Given the description of an element on the screen output the (x, y) to click on. 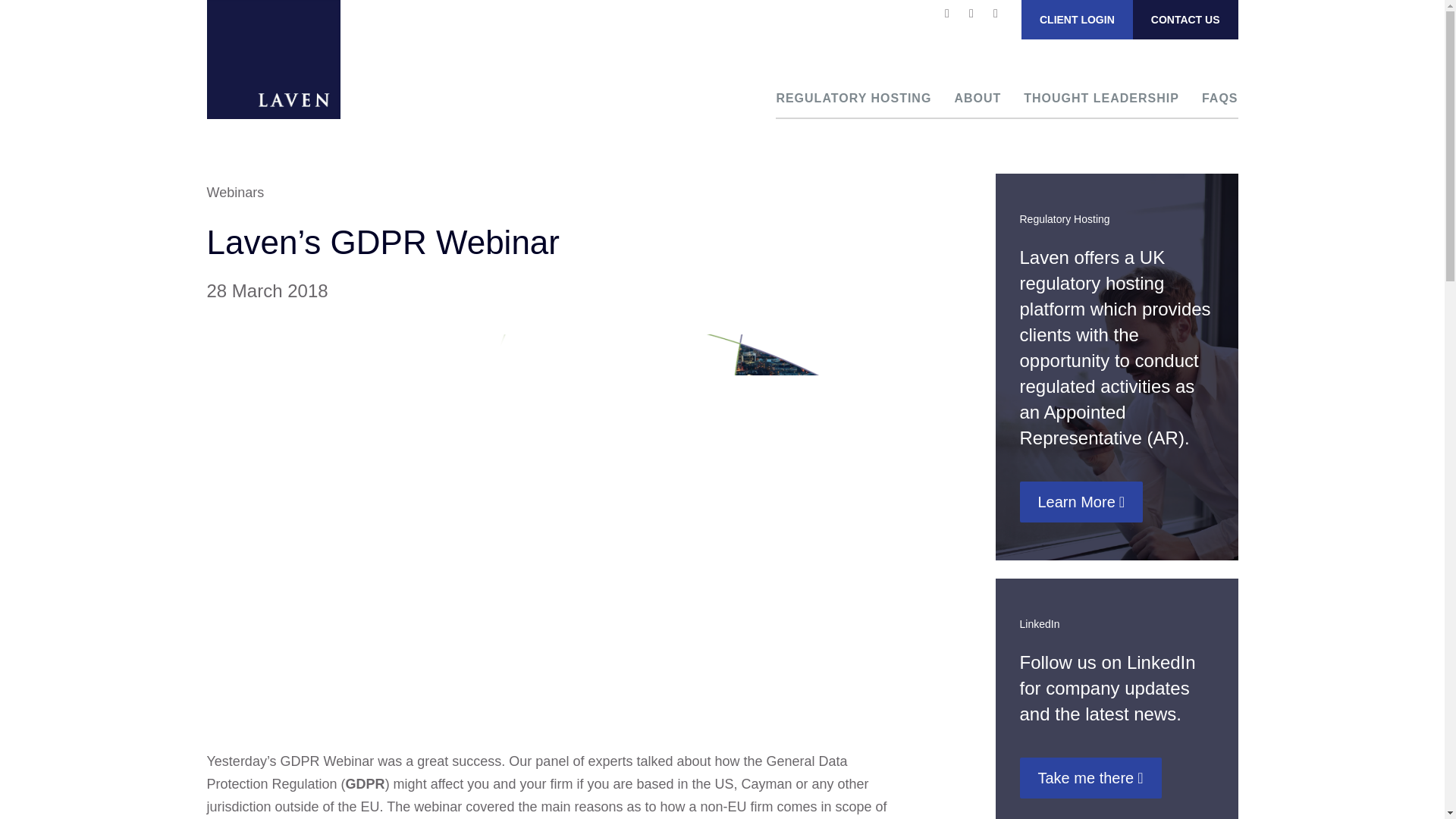
THOUGHT LEADERSHIP (1101, 98)
Learn More (1080, 501)
FAQS (1220, 98)
Take me there (1089, 777)
CONTACT US (1185, 19)
REGULATORY HOSTING (853, 98)
ABOUT (977, 98)
CLIENT LOGIN (1077, 19)
